Given the description of an element on the screen output the (x, y) to click on. 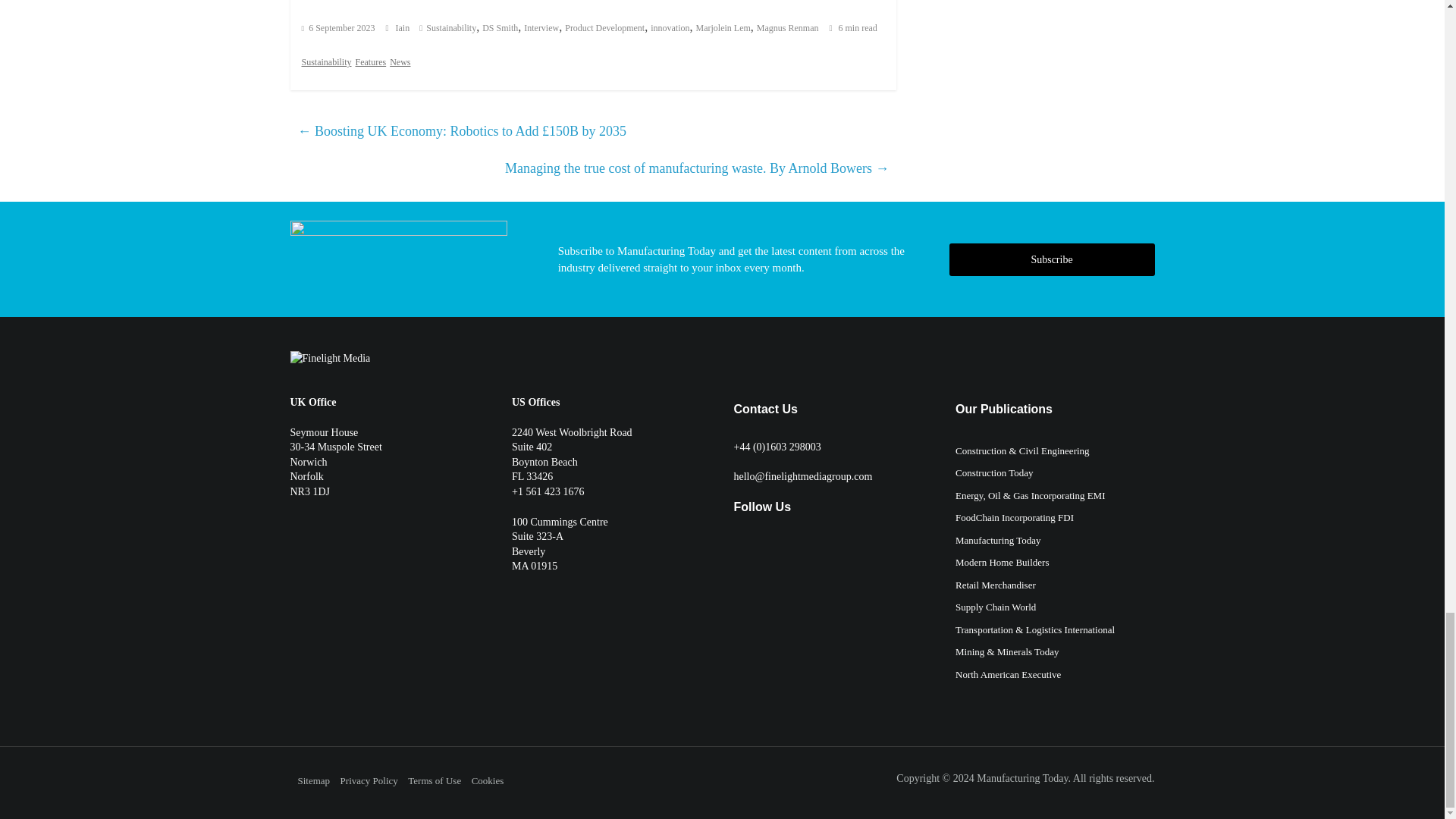
6 September 2023 (338, 27)
Iain (404, 27)
News (400, 61)
Features (370, 61)
Iain (404, 27)
Sustainability (451, 27)
Product Development (604, 27)
Sustainability (326, 61)
innovation (669, 27)
Marjolein Lem (723, 27)
Manufacturing Today (1021, 778)
DS Smith (499, 27)
Interview (541, 27)
3:40 pm (338, 27)
Magnus Renman (787, 27)
